Given the description of an element on the screen output the (x, y) to click on. 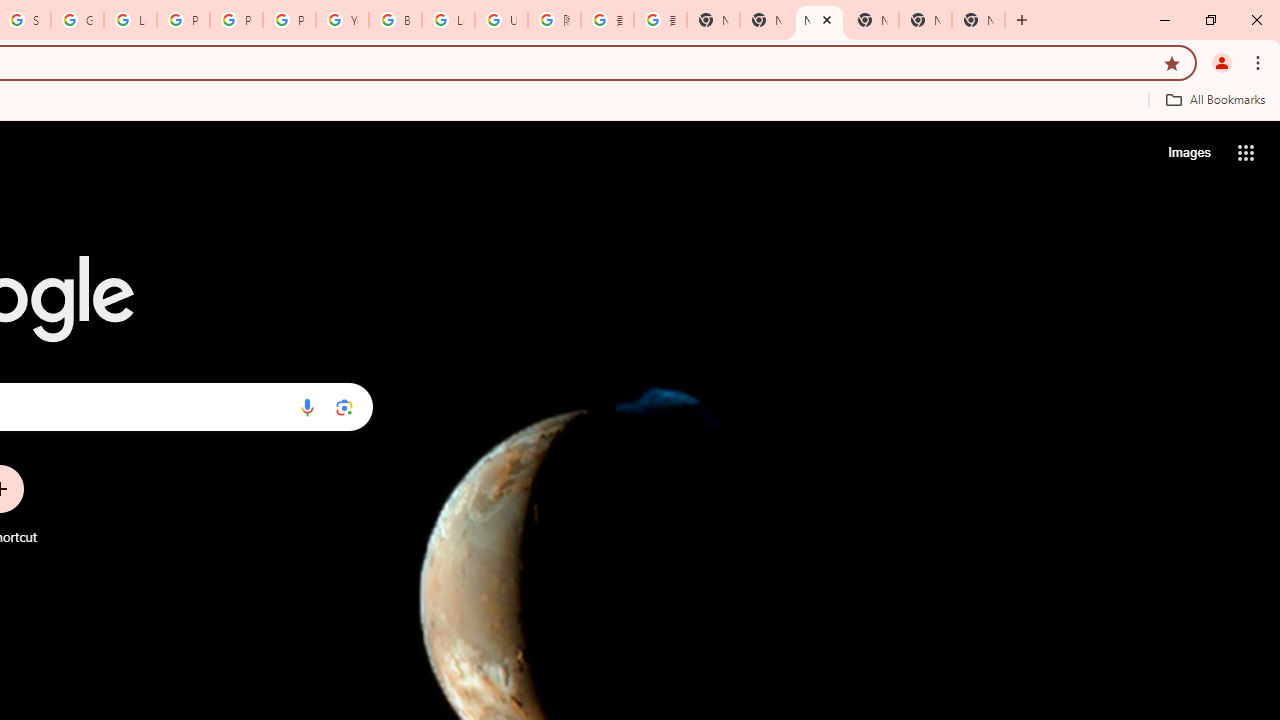
New Tab (978, 20)
New Tab (713, 20)
Privacy Help Center - Policies Help (235, 20)
Privacy Help Center - Policies Help (183, 20)
Search by image (344, 407)
All Bookmarks (1215, 99)
YouTube (342, 20)
